Given the description of an element on the screen output the (x, y) to click on. 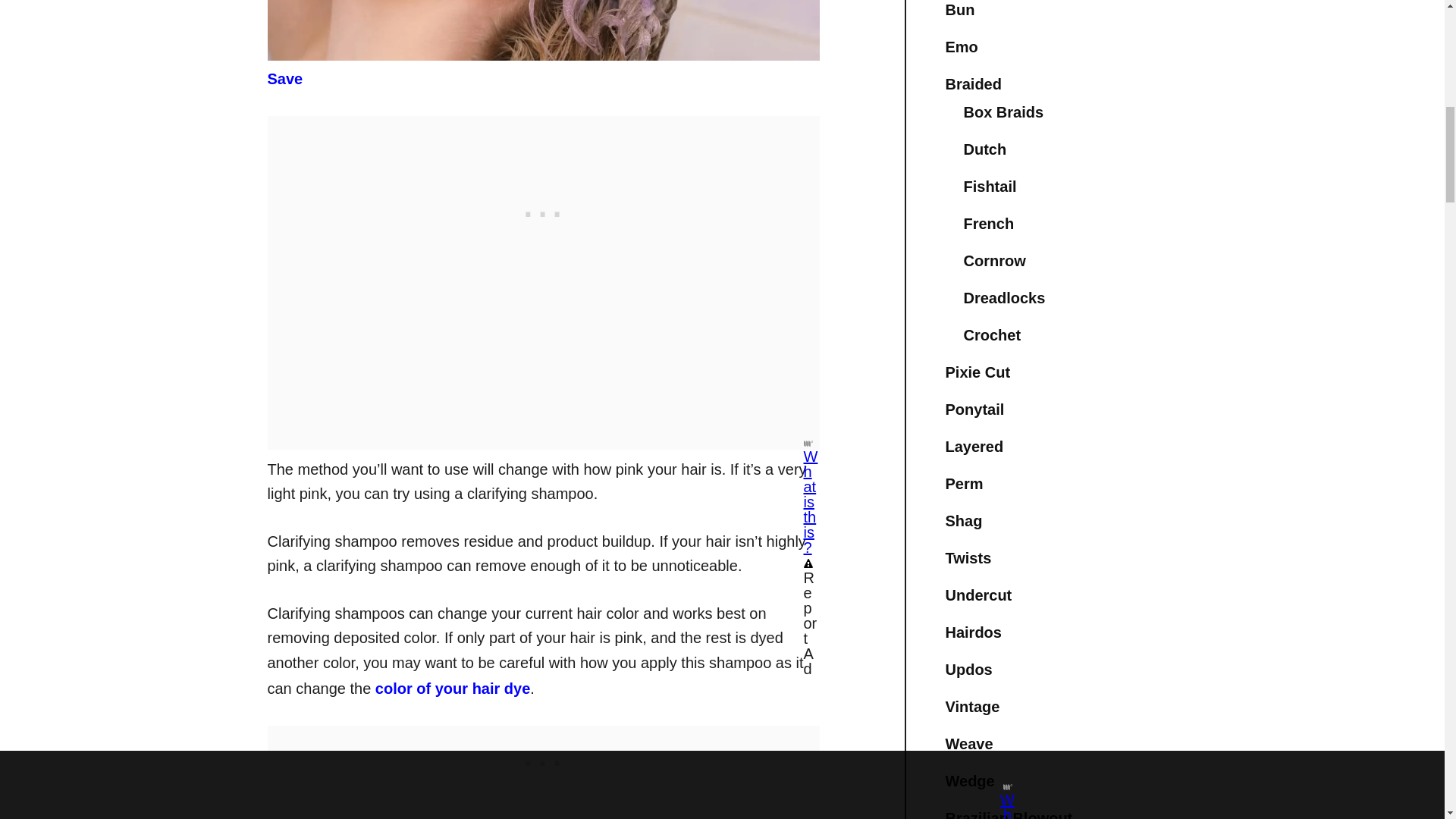
3rd party ad content (542, 209)
3rd party ad content (542, 758)
